Given the description of an element on the screen output the (x, y) to click on. 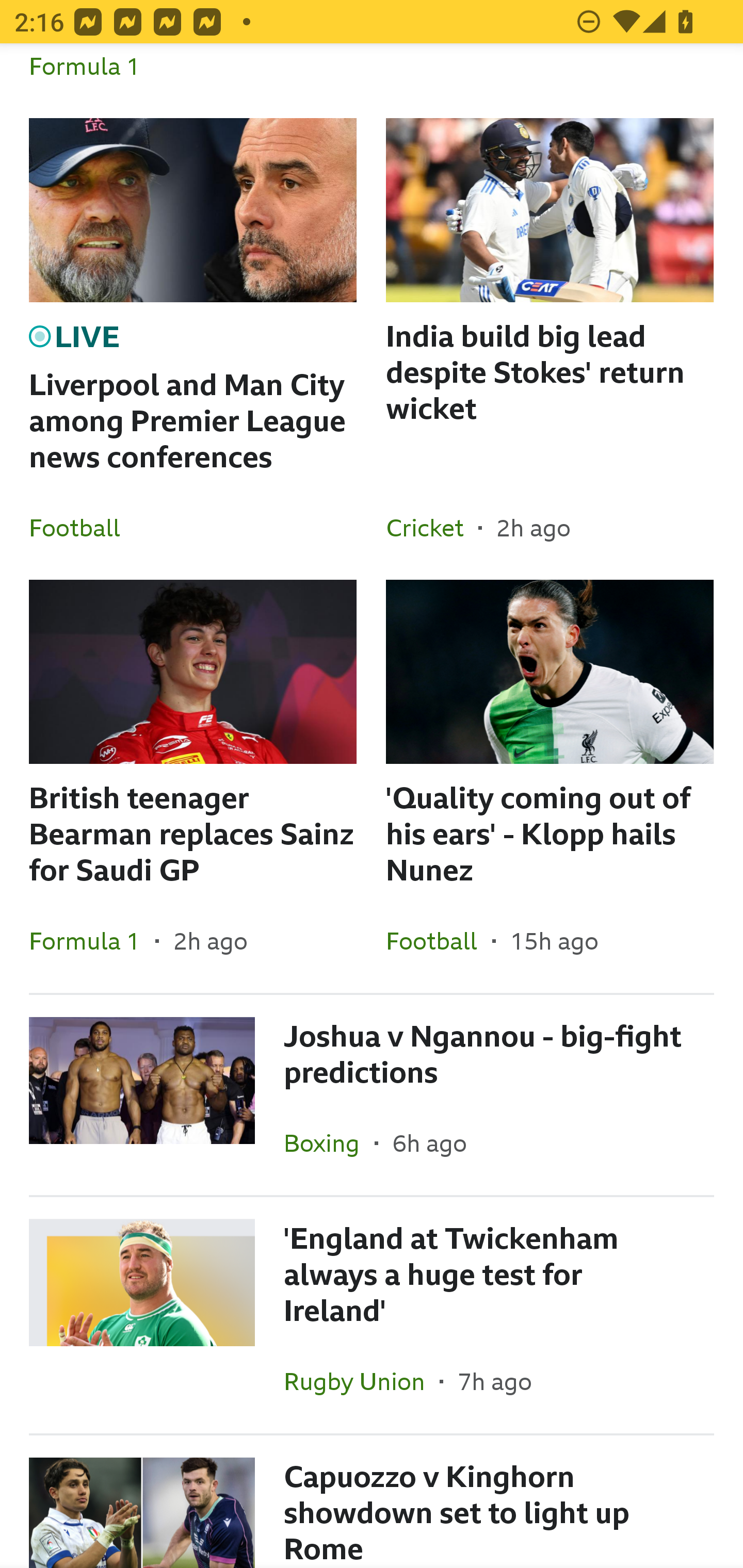
Formula 1 In the section Formula 1 (91, 80)
Football In the section Football (81, 527)
Cricket In the section Cricket (431, 527)
Formula 1 In the section Formula 1 (91, 940)
Football In the section Football (438, 940)
Boxing In the section Boxing (328, 1142)
Rugby Union In the section Rugby Union (361, 1381)
